Given the description of an element on the screen output the (x, y) to click on. 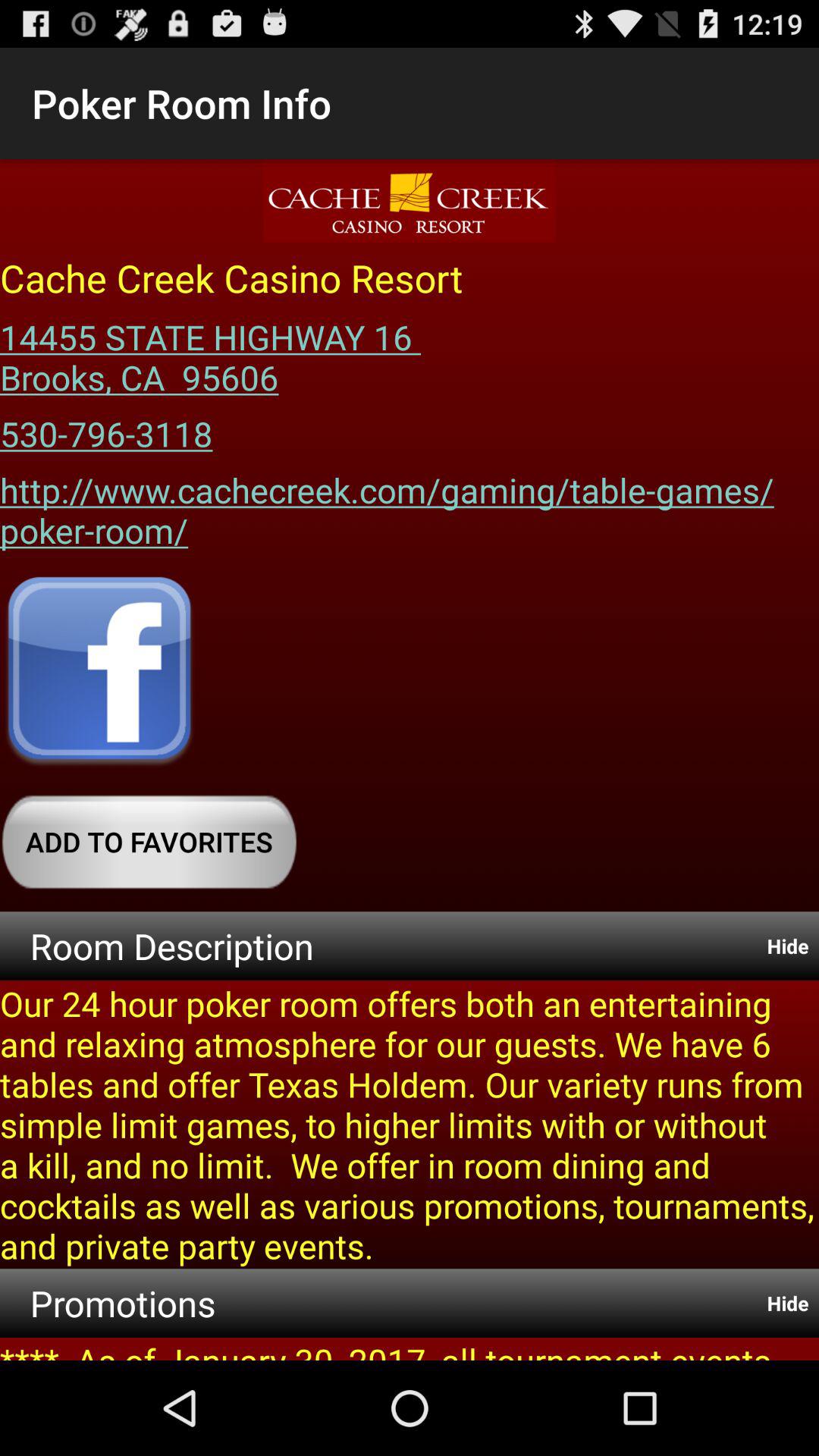
press the icon above the 530-796-3118 app (215, 351)
